Given the description of an element on the screen output the (x, y) to click on. 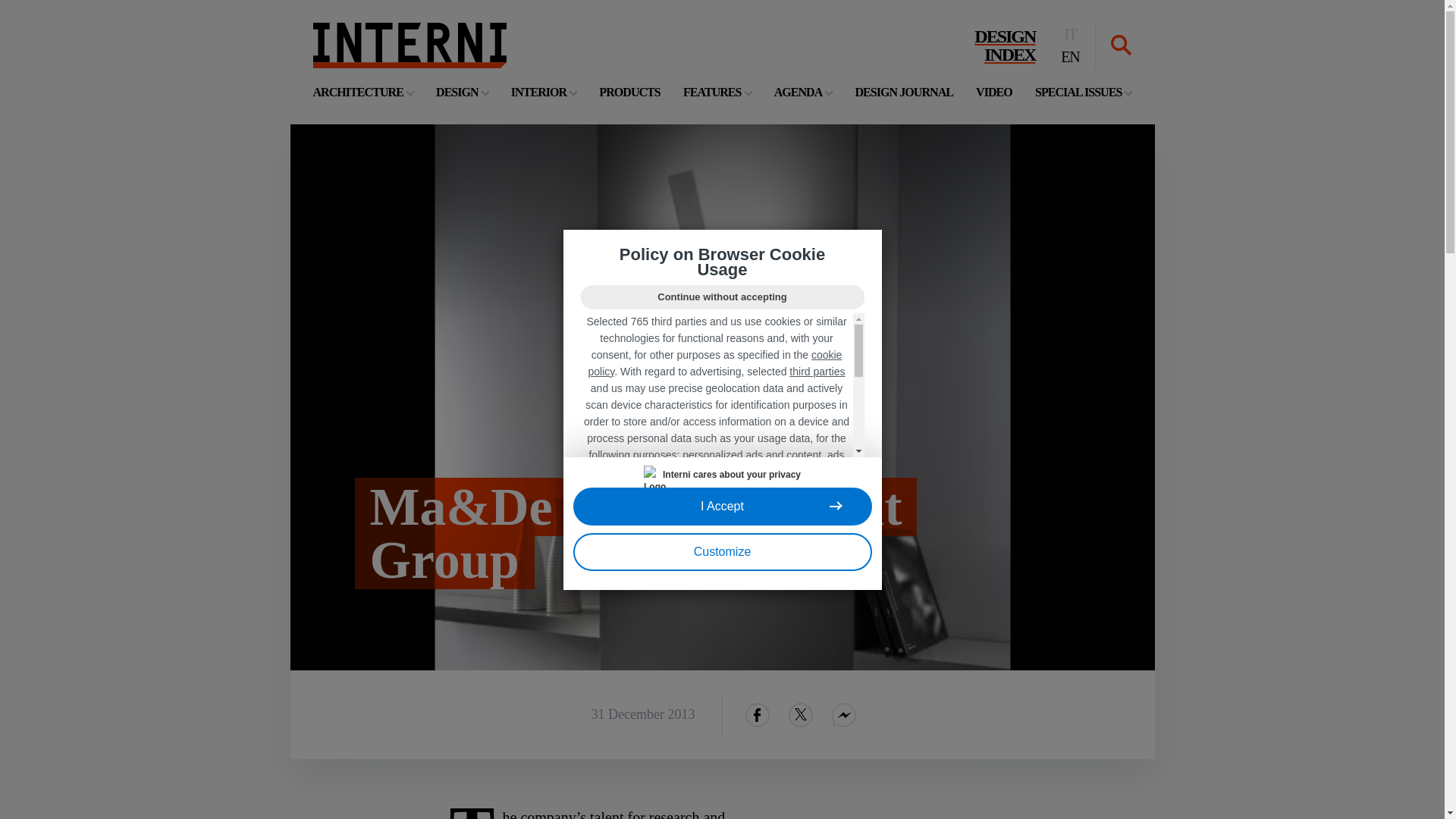
PRODUCTS (629, 91)
interni magazine (409, 44)
FEATURES (716, 91)
DESIGN JOURNAL (1004, 45)
ARCHITECTURE (903, 91)
AGENDA (362, 91)
VIDEO (803, 91)
INTERIOR (993, 91)
SPECIAL ISSUES (543, 91)
